Given the description of an element on the screen output the (x, y) to click on. 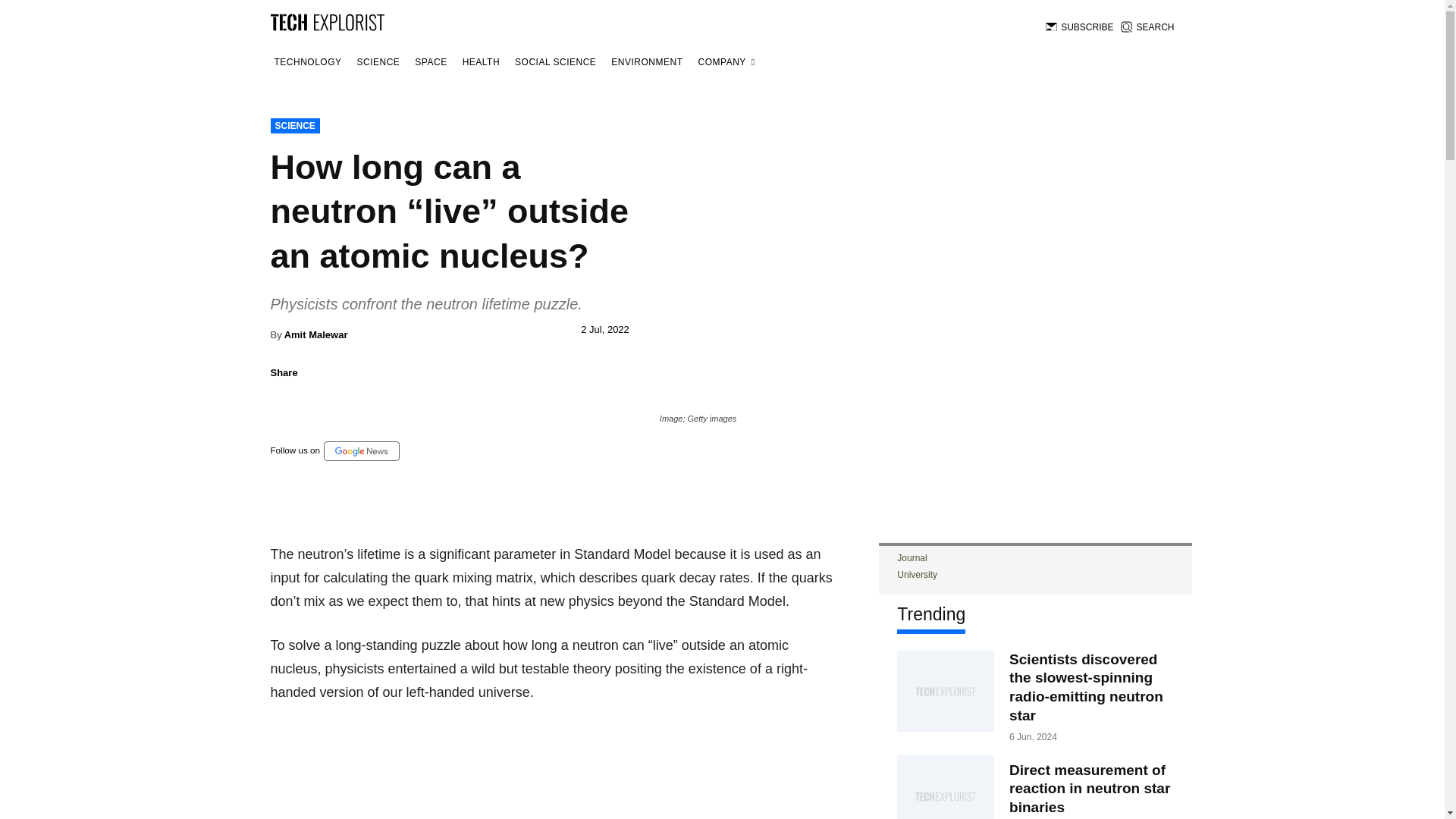
SEARCH (1147, 26)
SCIENCE (378, 62)
SUBSCRIBE (1079, 26)
SEARCH (1147, 26)
HEALTH (480, 62)
SOCIAL SCIENCE (555, 62)
TECHNOLOGY (307, 62)
ENVIRONMENT (646, 62)
SCIENCE (293, 125)
